Given the description of an element on the screen output the (x, y) to click on. 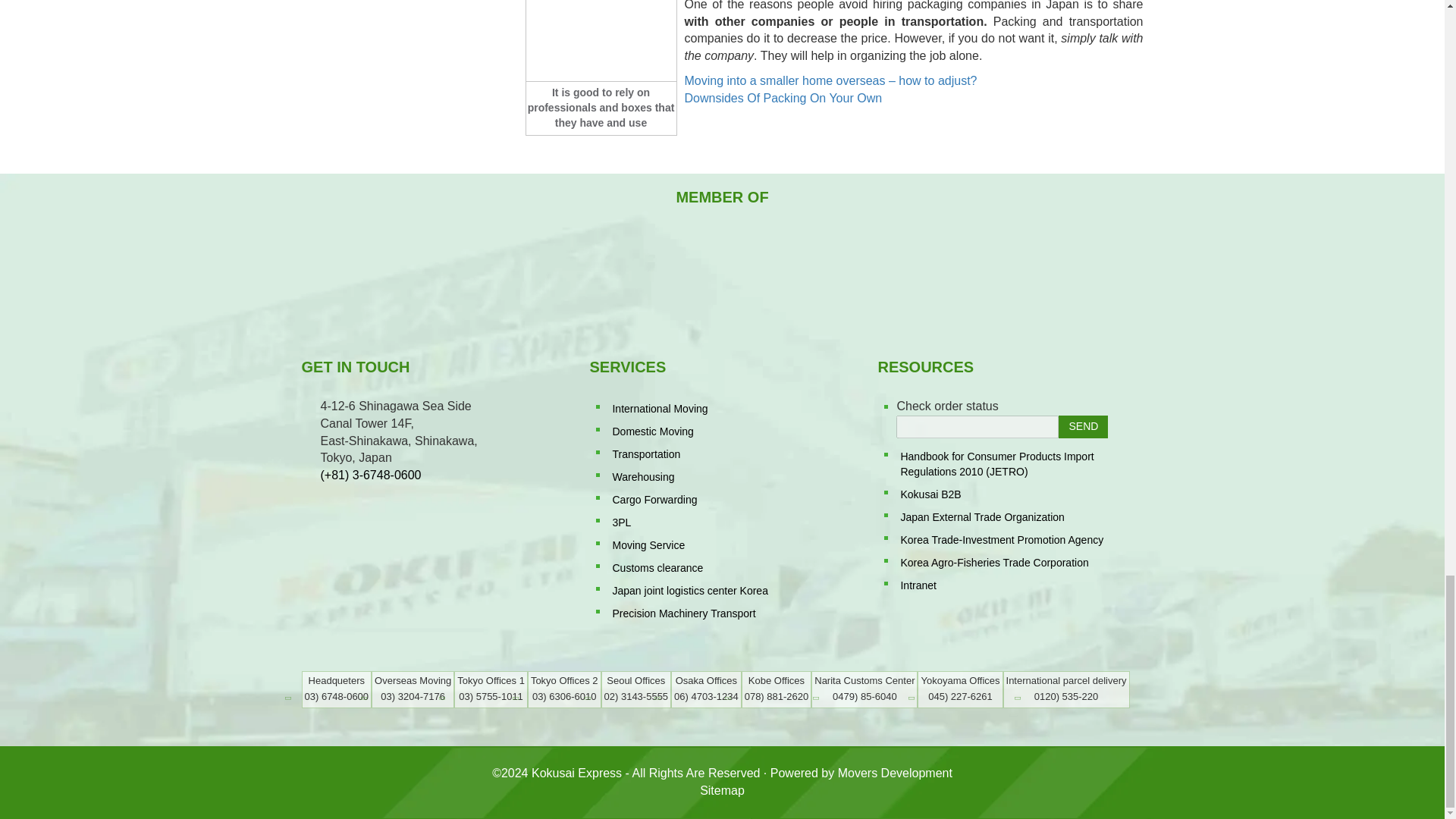
Downsides Of Packing On Your Own (783, 97)
SEND (1083, 426)
